Given the description of an element on the screen output the (x, y) to click on. 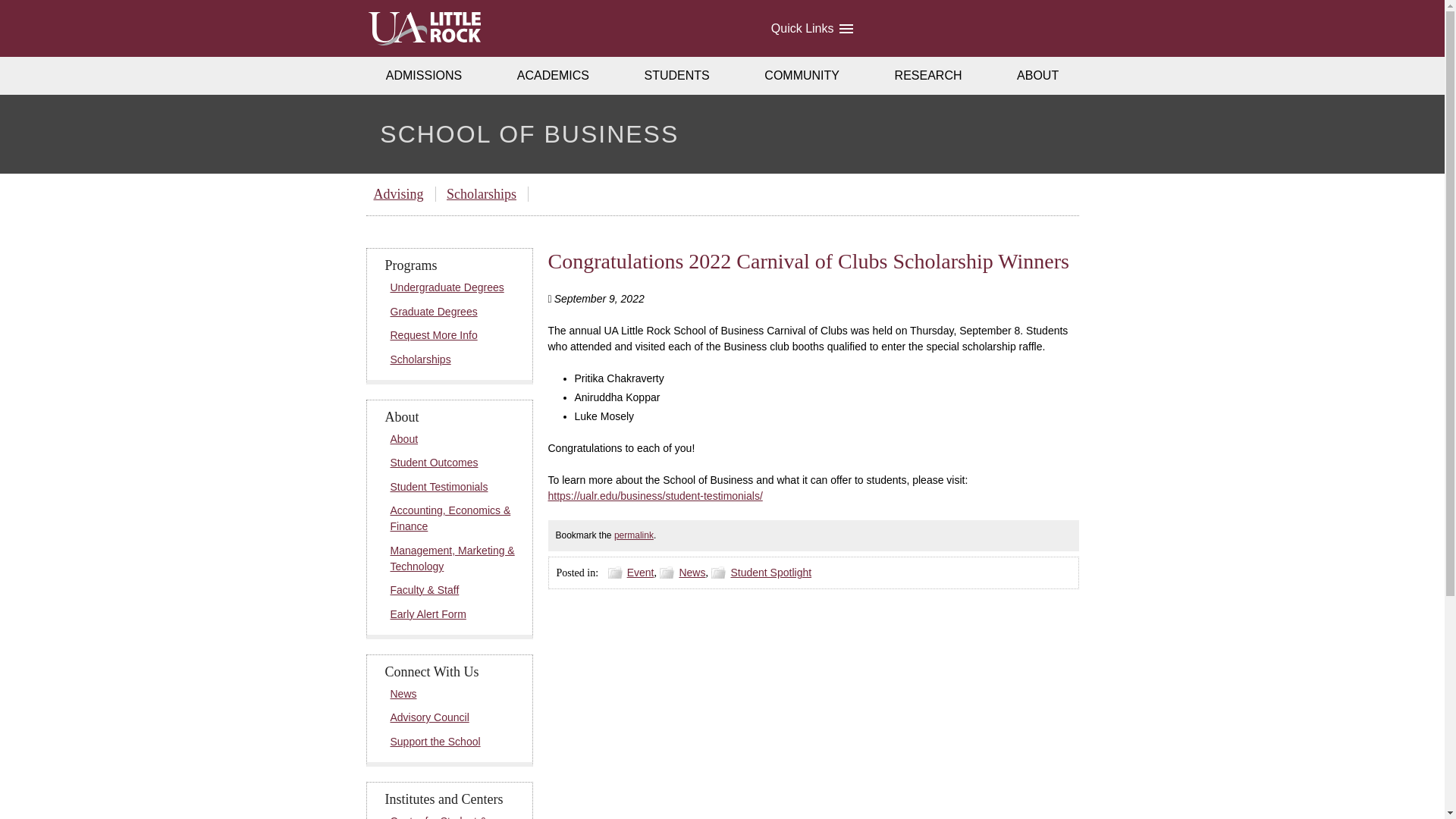
Quick Links (810, 28)
ADMISSIONS (423, 75)
Skip to main content (25, 13)
ACADEMICS (553, 75)
